Given the description of an element on the screen output the (x, y) to click on. 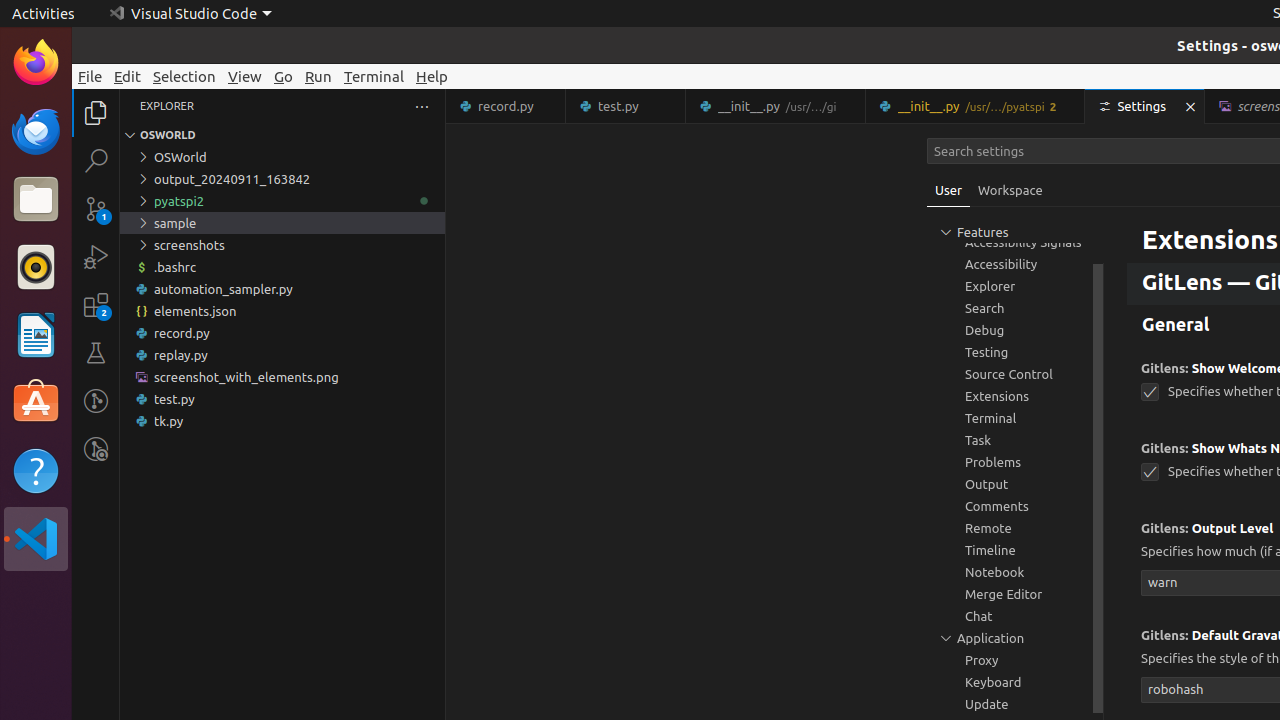
screenshot_with_elements.png Element type: tree-item (282, 377)
Source Control, group Element type: tree-item (1015, 374)
